Given the description of an element on the screen output the (x, y) to click on. 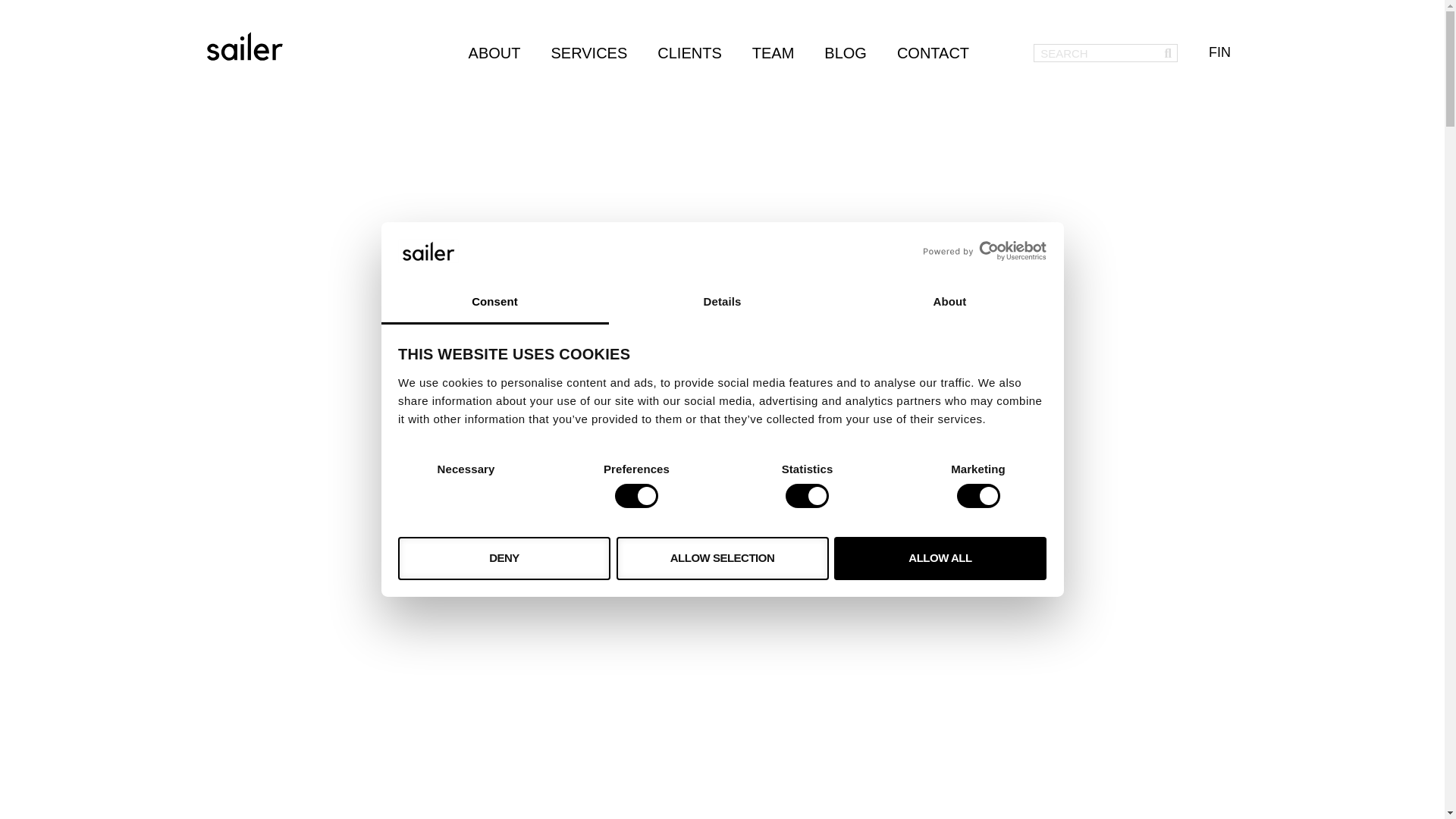
ALLOW ALL (940, 558)
Consent (494, 302)
DENY (503, 558)
Search (1095, 53)
Search (1167, 53)
sailer-logo (244, 45)
ALLOW SELECTION (721, 558)
Details (721, 302)
About (948, 302)
